Given the description of an element on the screen output the (x, y) to click on. 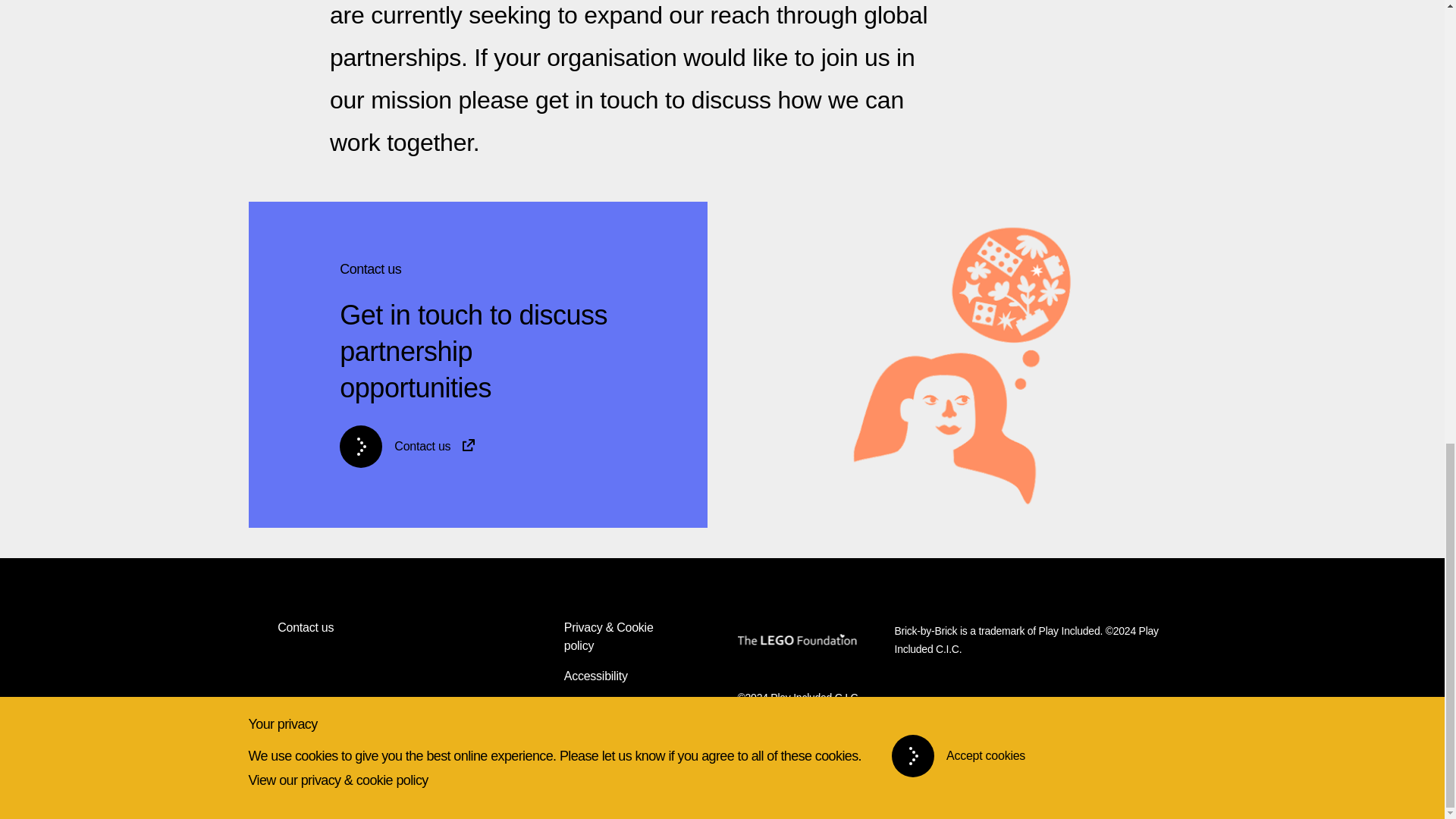
Jobs (576, 737)
Accessibility (595, 676)
Contact us (305, 628)
Contact us (476, 446)
FAQ (576, 706)
